Given the description of an element on the screen output the (x, y) to click on. 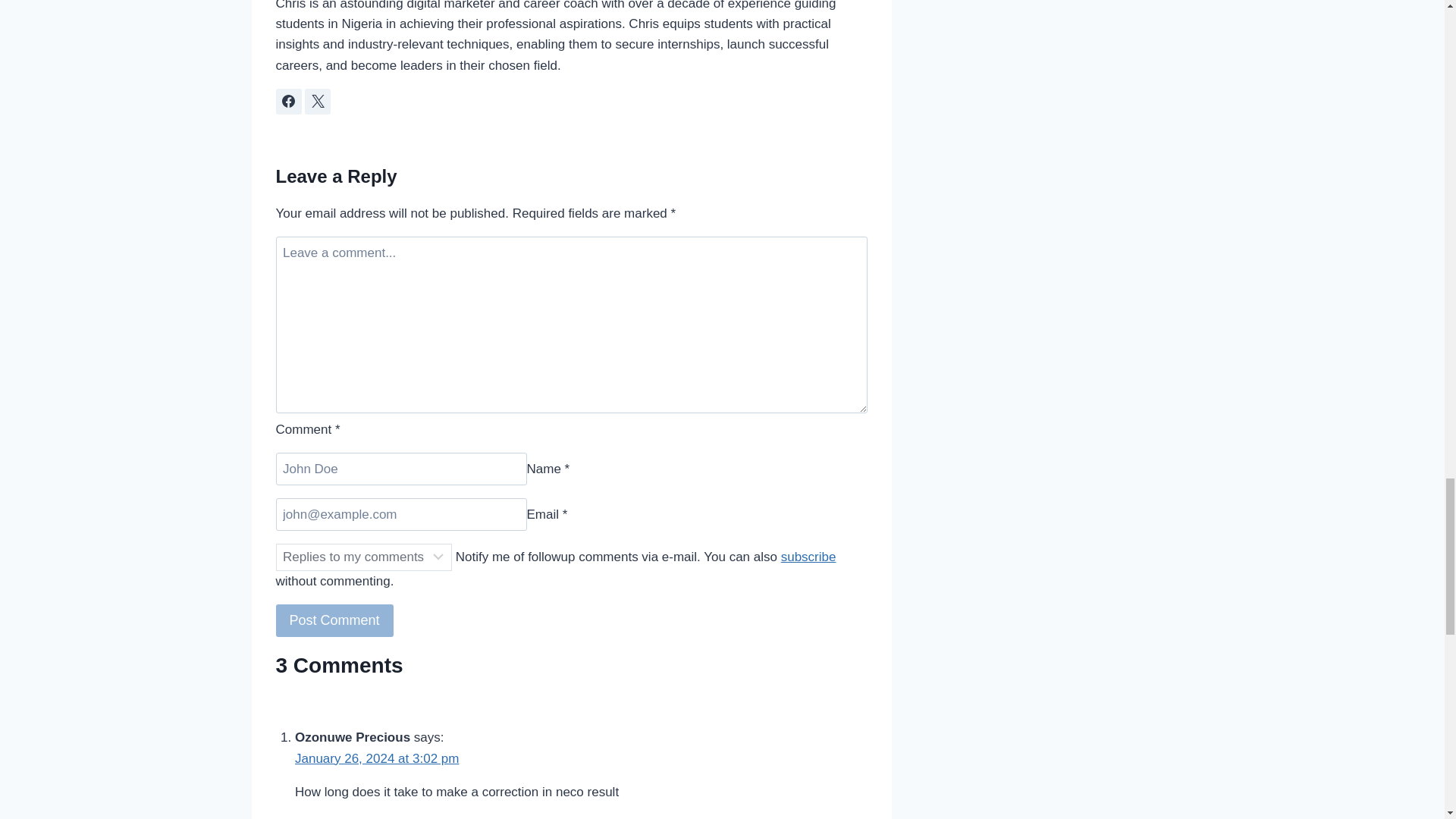
Post Comment (334, 620)
Follow Chris. Akuneme on X formerly Twitter (317, 101)
Follow Chris. Akuneme on Facebook (288, 101)
